Given the description of an element on the screen output the (x, y) to click on. 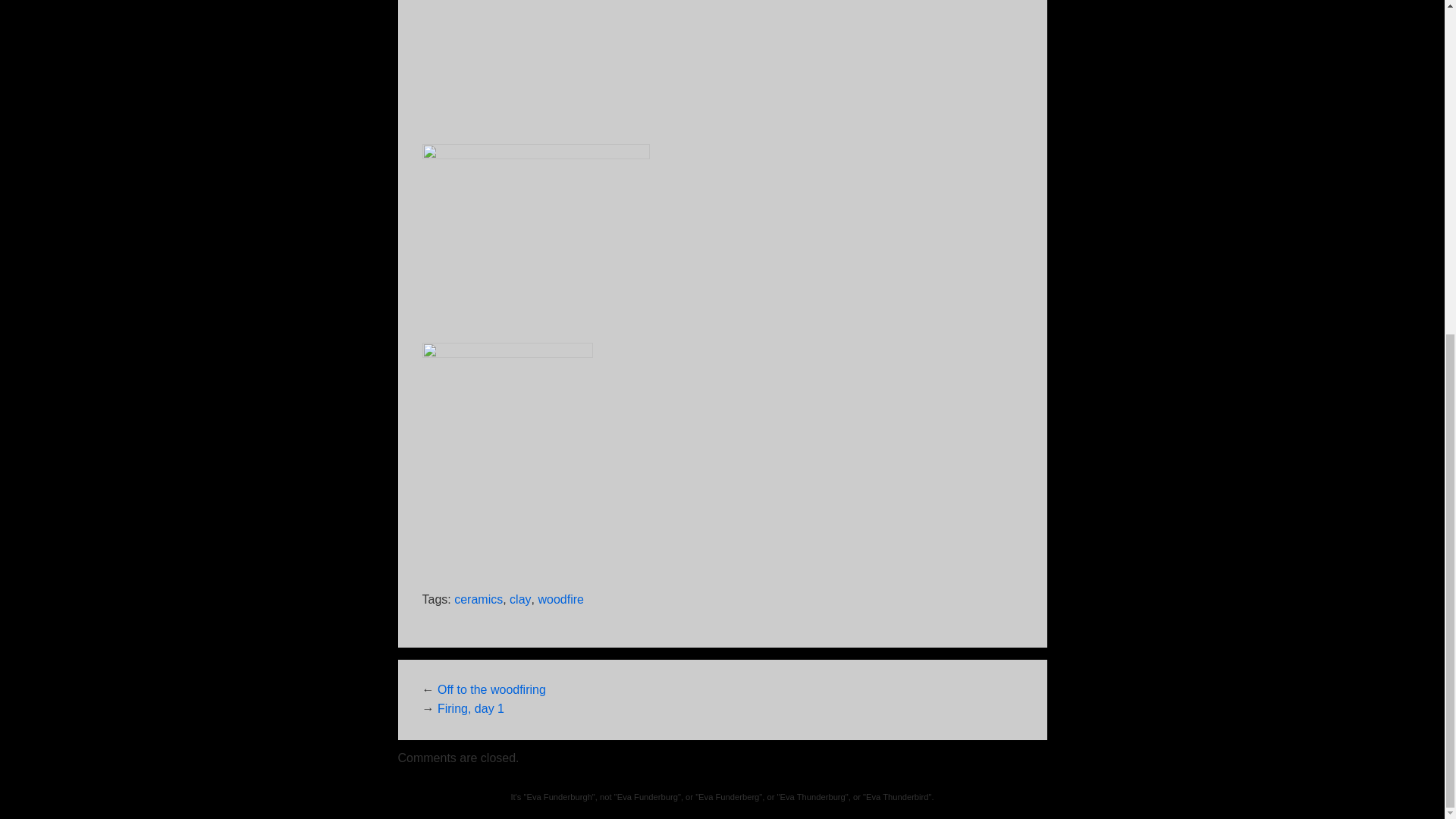
Firing, day 1 (470, 708)
ceramics (478, 599)
clay (520, 599)
Off to the woodfiring (492, 689)
woodfire (560, 599)
